Given the description of an element on the screen output the (x, y) to click on. 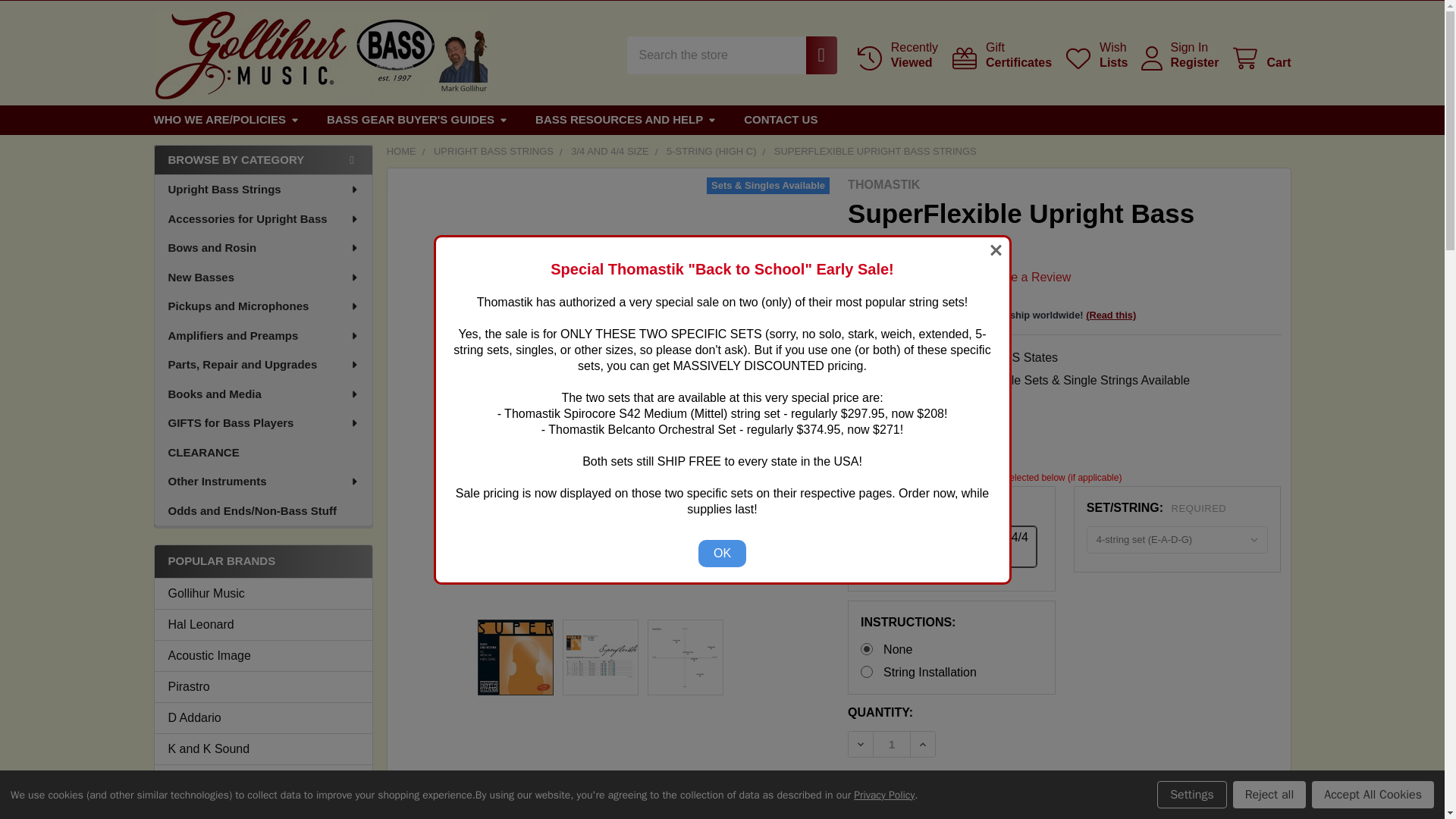
Add to Cart (951, 790)
Gift Certificates (1000, 55)
Pirastro (263, 687)
Register (1194, 62)
Recently Viewed (896, 55)
Gollihur Music (263, 593)
NS Design (263, 780)
Search (813, 55)
